Given the description of an element on the screen output the (x, y) to click on. 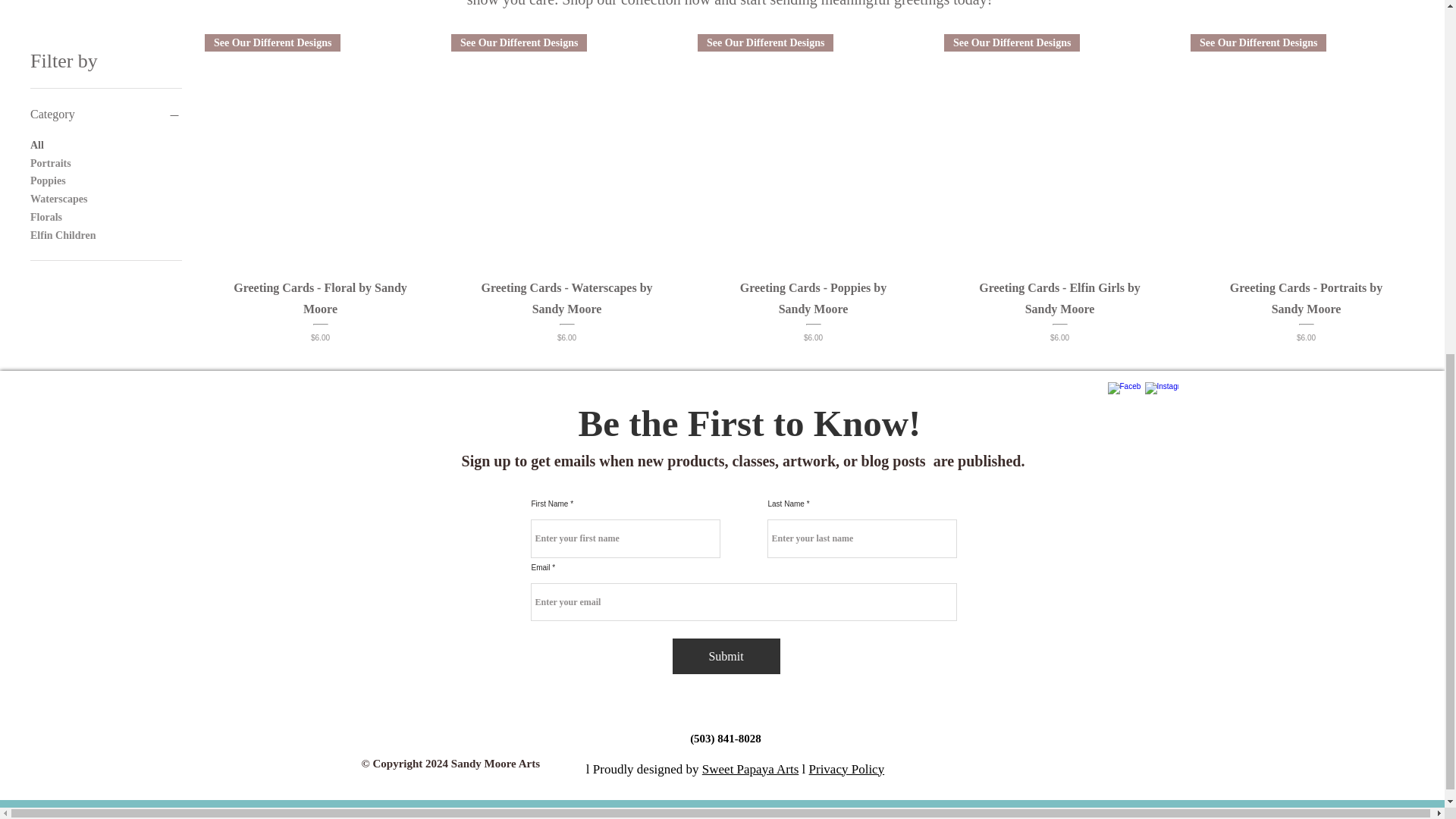
See Our Different Designs (566, 149)
Privacy Policy (847, 769)
See Our Different Designs (1306, 149)
See Our Different Designs (320, 149)
Category (106, 114)
See Our Different Designs (1058, 149)
Submit (724, 656)
See Our Different Designs (812, 149)
